Given the description of an element on the screen output the (x, y) to click on. 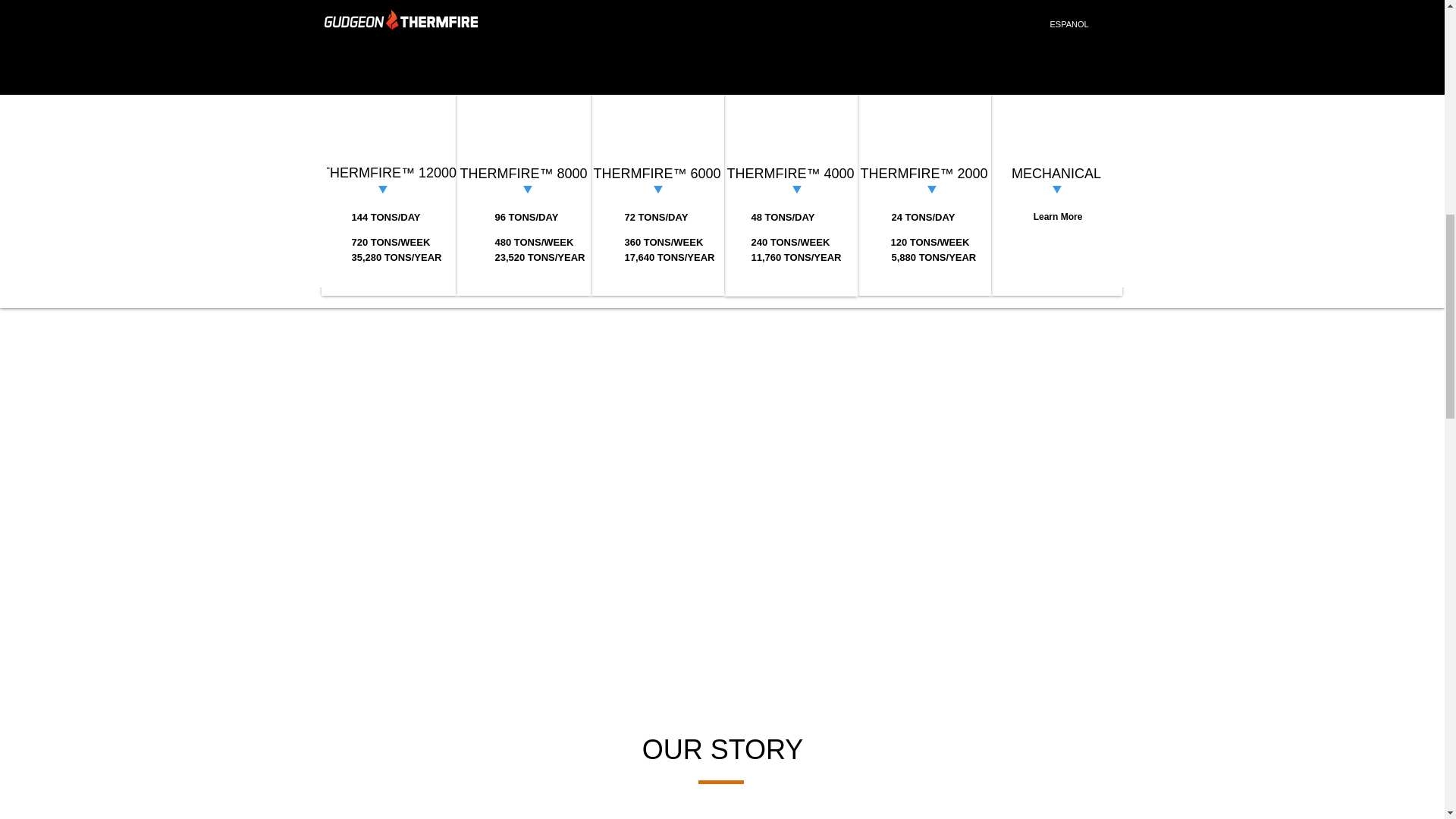
Learn More (1057, 217)
